Given the description of an element on the screen output the (x, y) to click on. 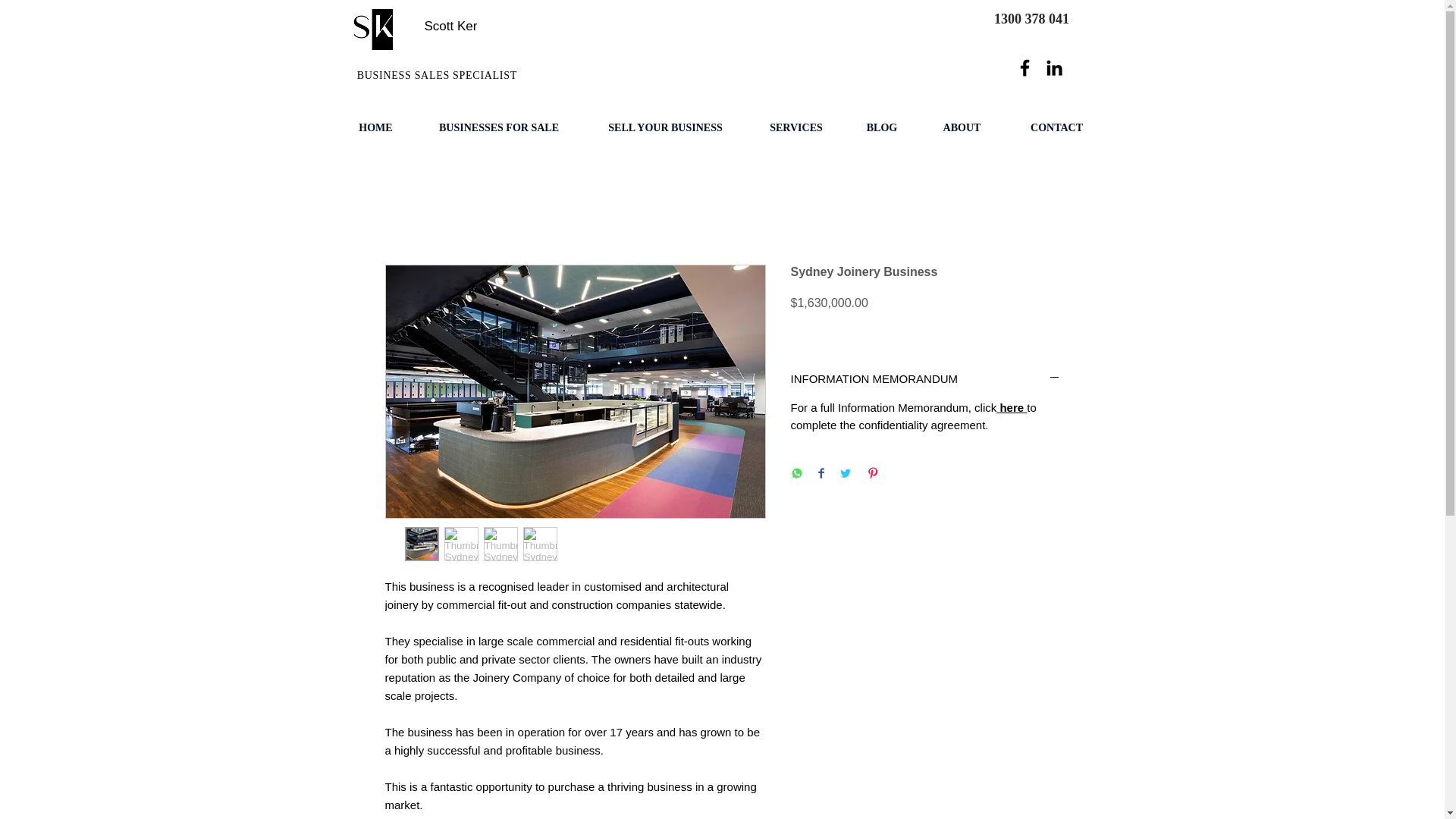
BLOG (881, 128)
INFORMATION MEMORANDUM (924, 378)
Scott Ker (451, 25)
ABOUT (961, 128)
 BUSINESS SALES SPECIALIST (434, 75)
SERVICES (796, 128)
1300 378 041 (1031, 19)
CONTACT (1056, 128)
HOME (374, 128)
 here  (1010, 407)
